Given the description of an element on the screen output the (x, y) to click on. 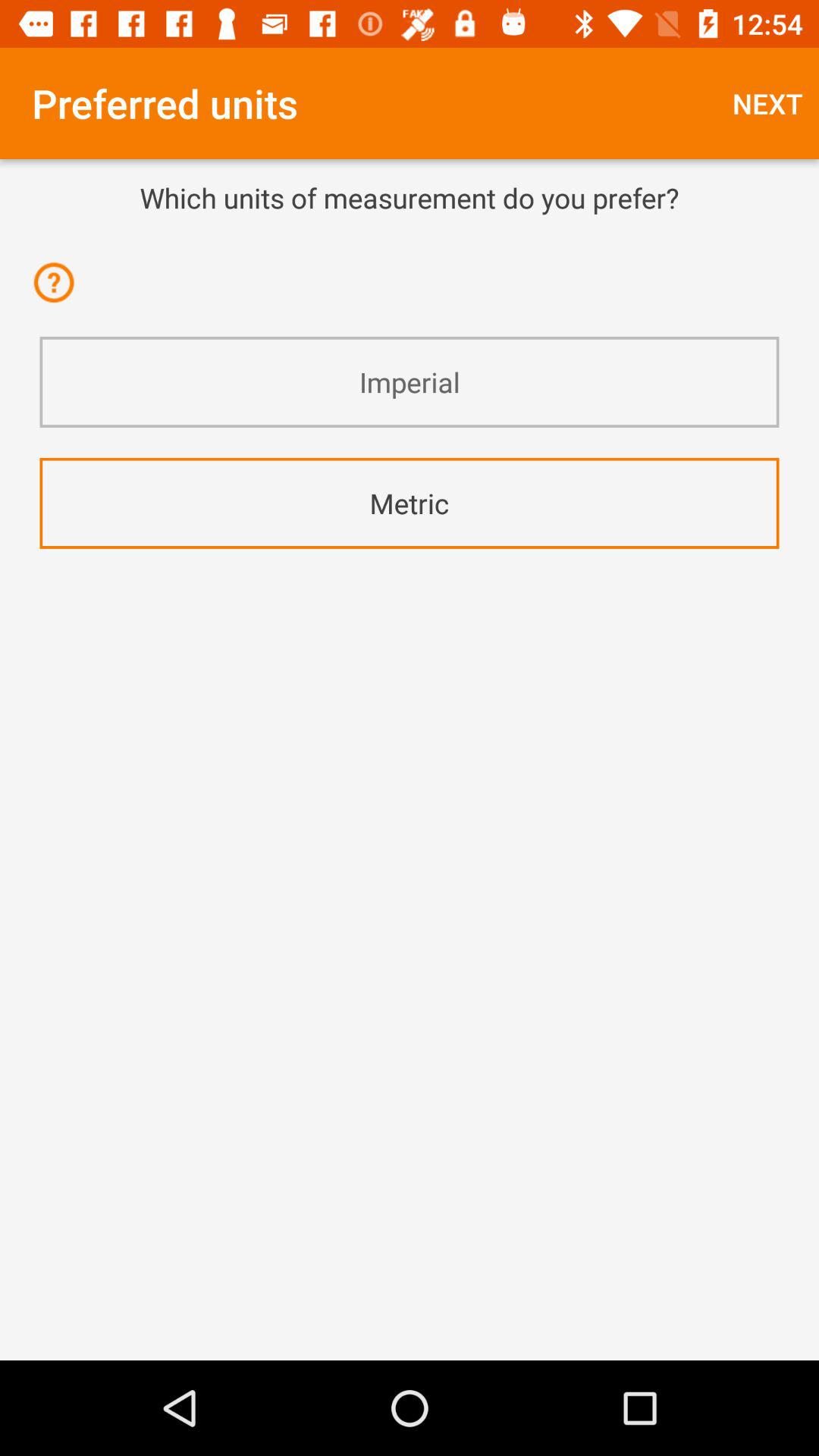
tap the next at the top right corner (767, 103)
